Given the description of an element on the screen output the (x, y) to click on. 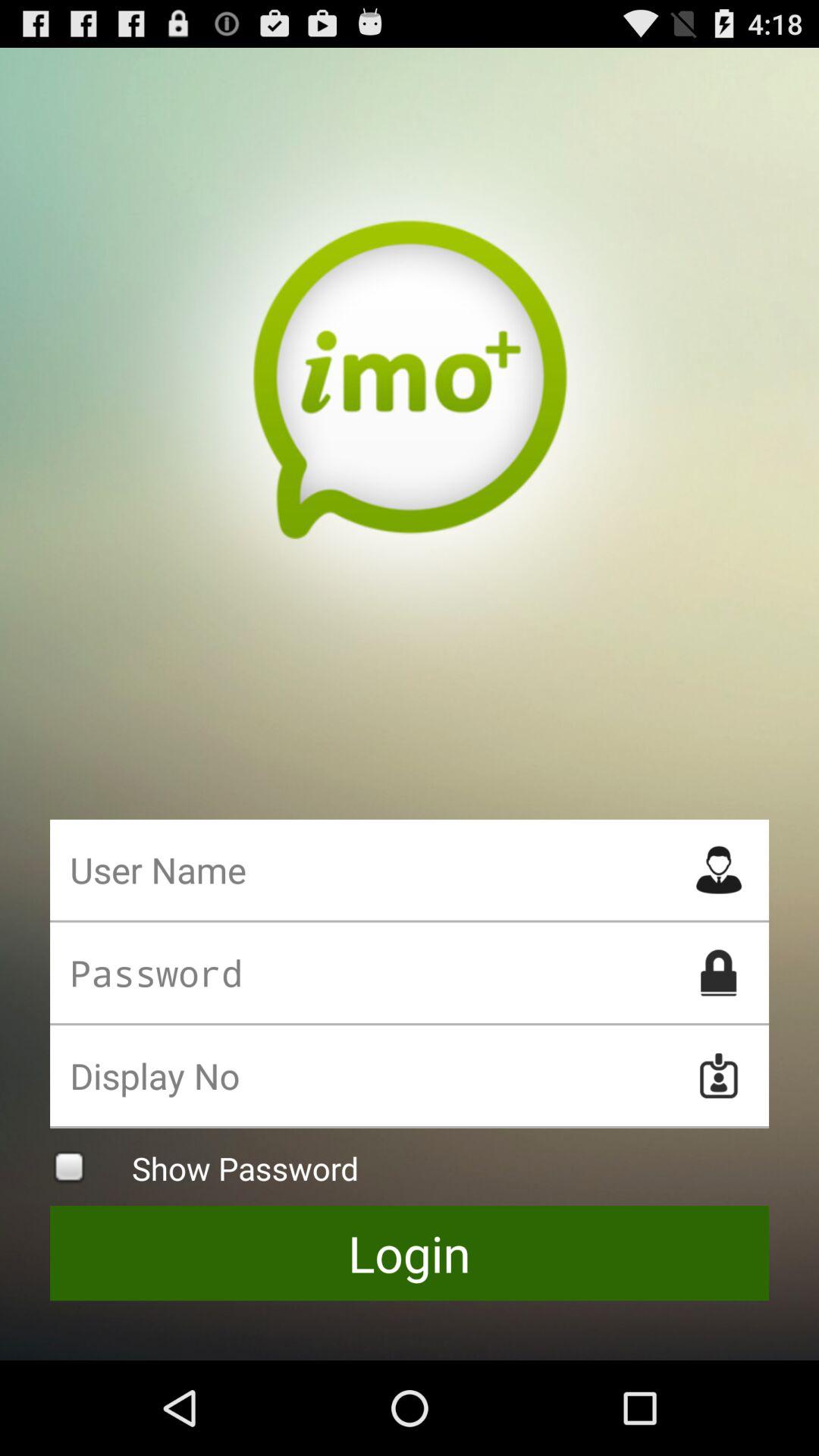
click the login button (409, 1252)
